Given the description of an element on the screen output the (x, y) to click on. 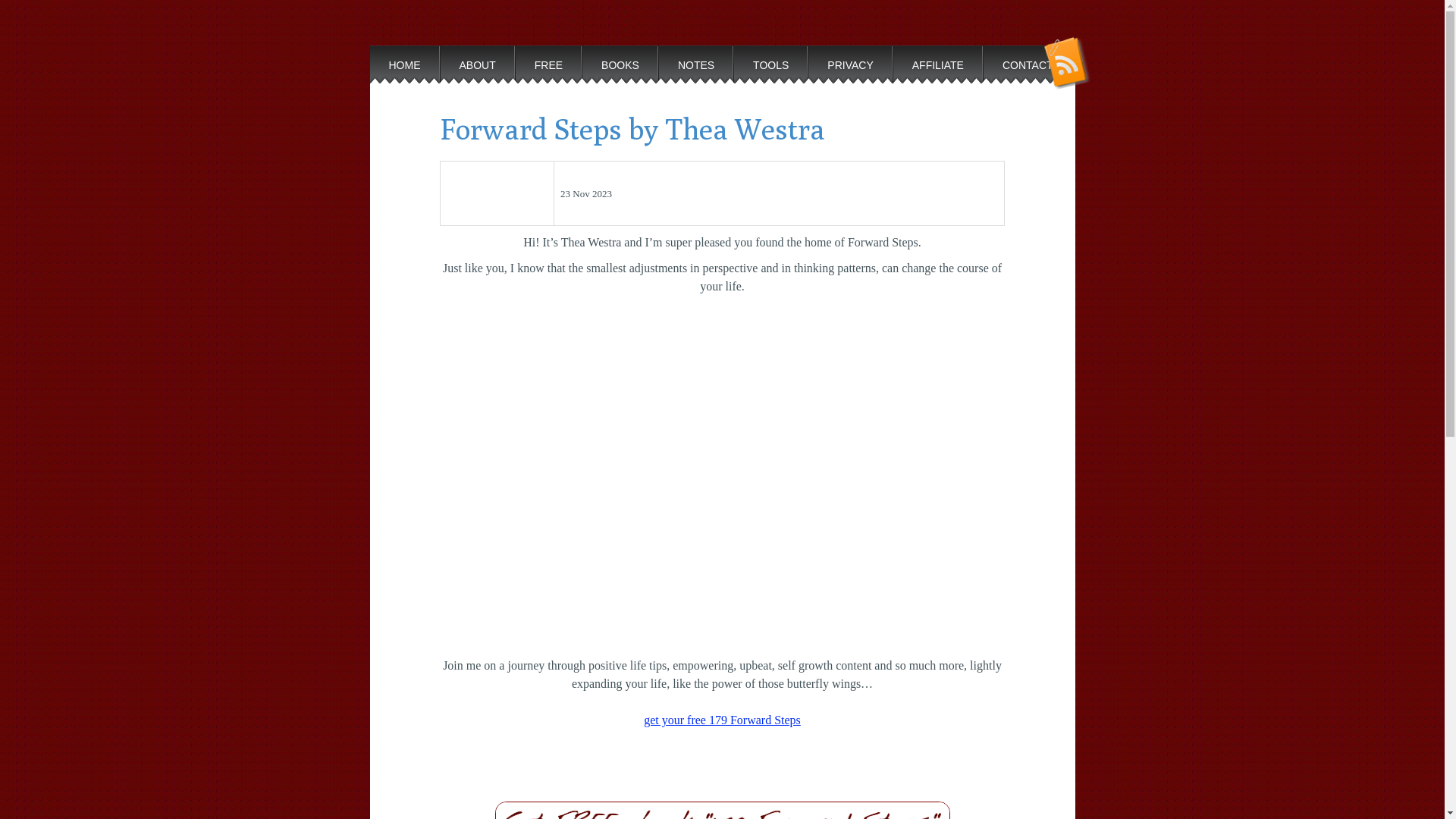
FREE Element type: text (548, 71)
CONTACT Element type: text (1027, 71)
BOOKS Element type: text (620, 71)
TOOLS Element type: text (770, 71)
NOTES Element type: text (695, 71)
PRIVACY Element type: text (849, 71)
get your free 179 Forward Steps Element type: text (721, 728)
Skip to content Element type: text (368, 44)
ABOUT Element type: text (476, 71)
HOME Element type: text (404, 71)
AFFILIATE Element type: text (937, 71)
